Given the description of an element on the screen output the (x, y) to click on. 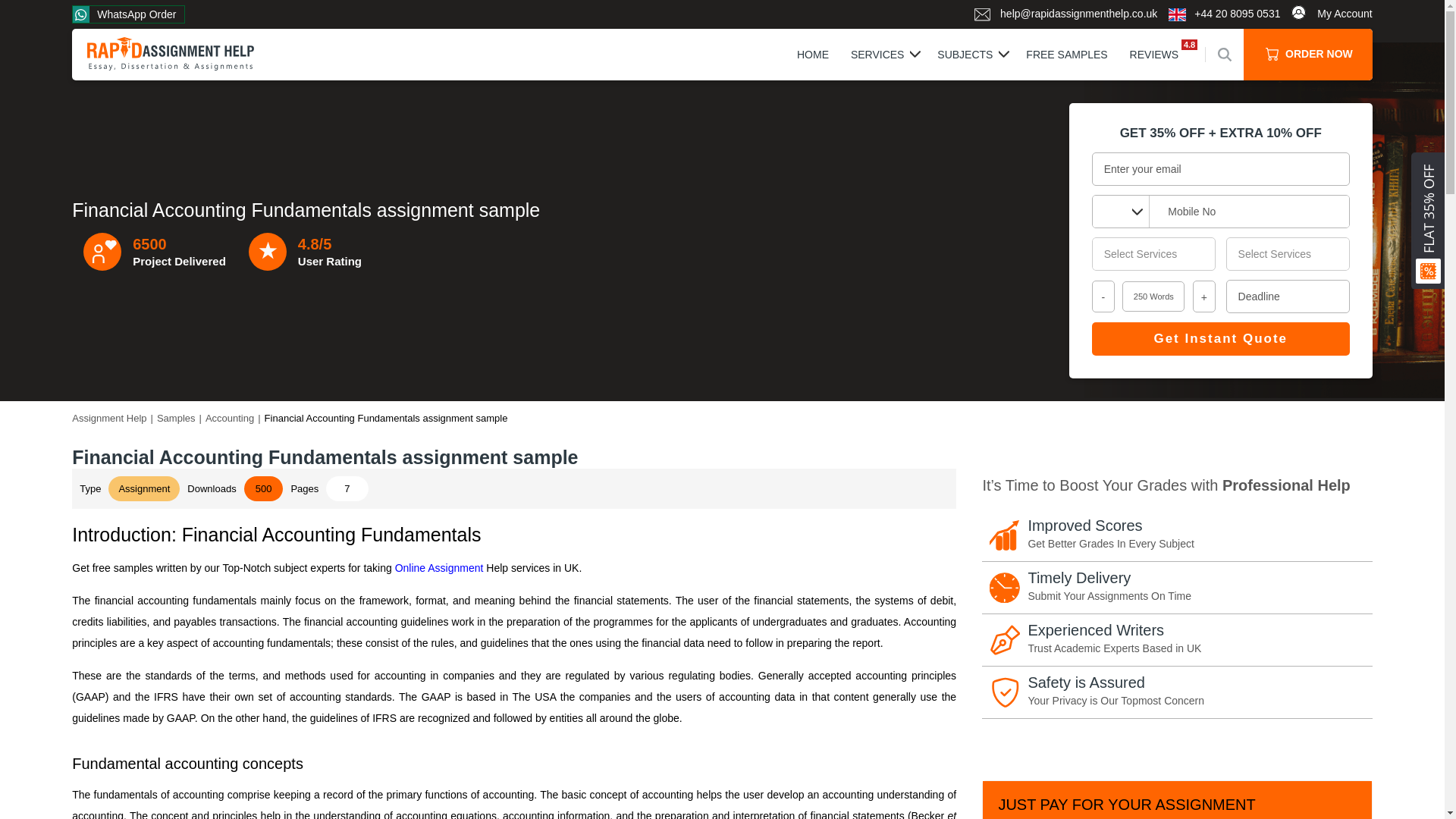
Email Id (1220, 168)
HOME (812, 54)
Assignment Services (1153, 254)
My Account (1331, 14)
250 Words (1153, 296)
WhatsApp Order (127, 13)
SERVICES (877, 54)
